Given the description of an element on the screen output the (x, y) to click on. 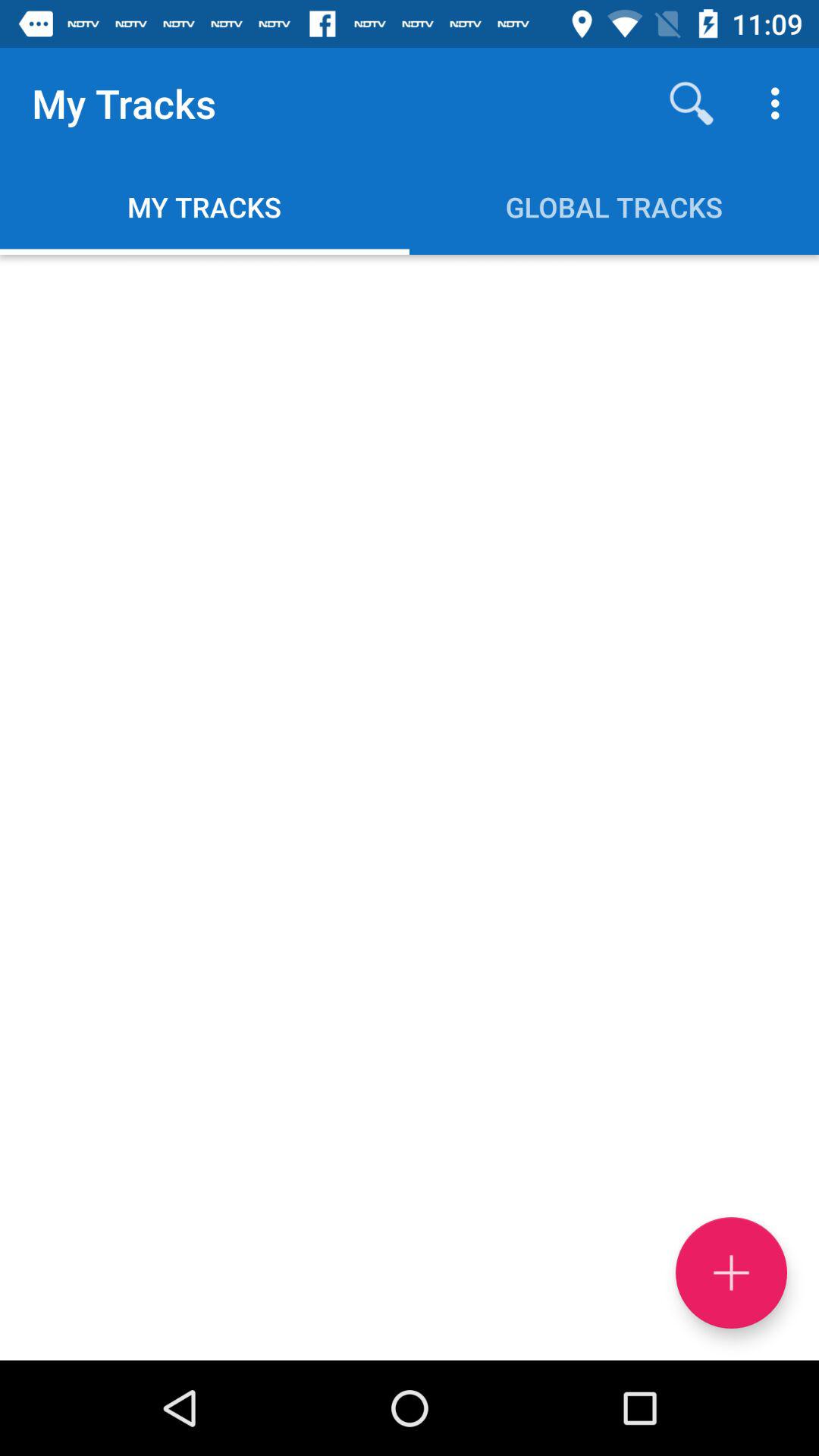
choose item below global tracks item (731, 1272)
